Given the description of an element on the screen output the (x, y) to click on. 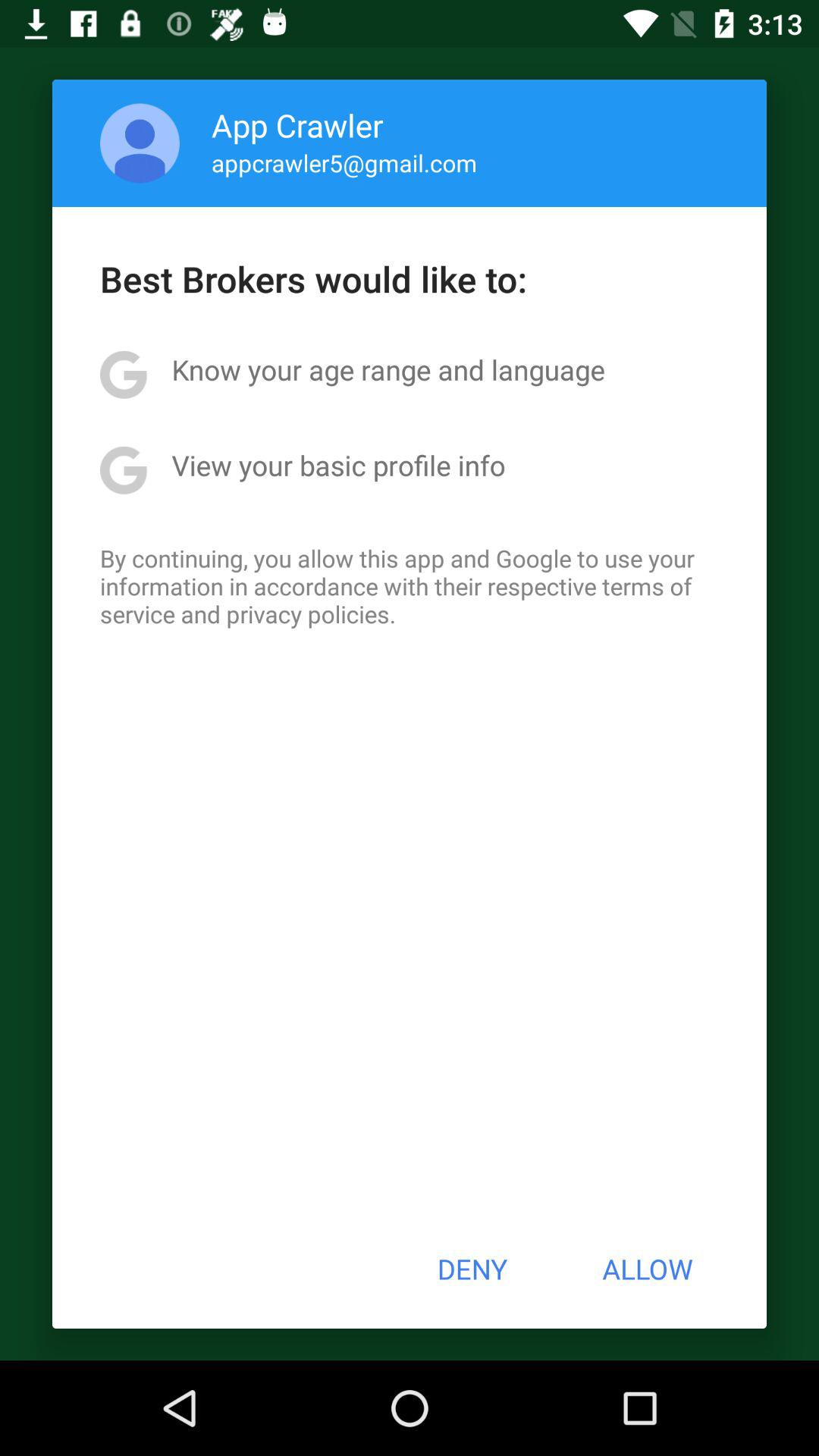
tap view your basic (338, 465)
